Given the description of an element on the screen output the (x, y) to click on. 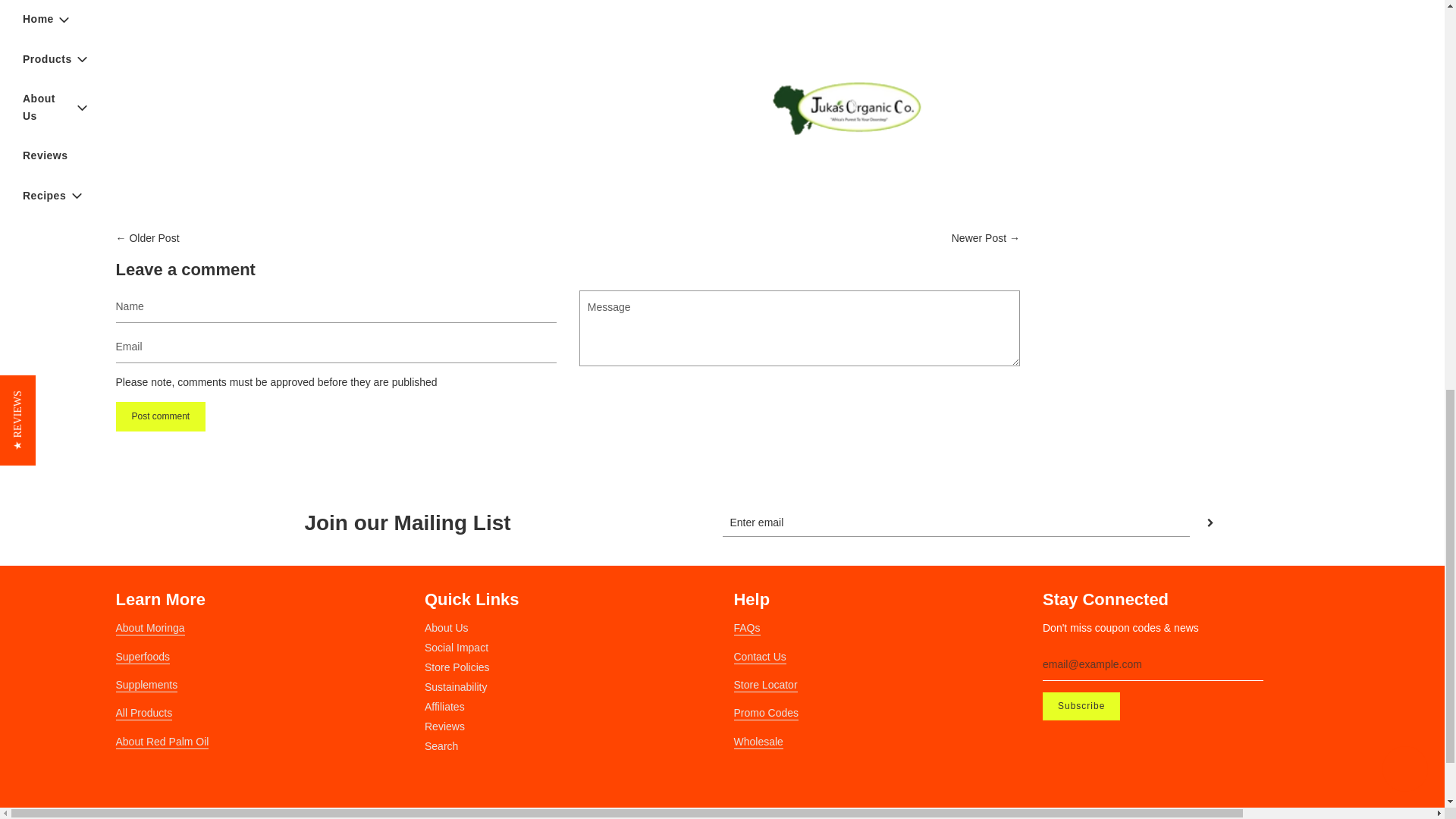
Store Locator (765, 685)
Wholesale (758, 742)
Juka's Organic Co., Reviews (766, 713)
What Is Moringa Powder (149, 628)
Contact Us (759, 657)
Supplements (146, 685)
FAQS (746, 628)
What Is Red Palm Oil (161, 742)
Subscribe (1080, 706)
All Collections (143, 713)
